Given the description of an element on the screen output the (x, y) to click on. 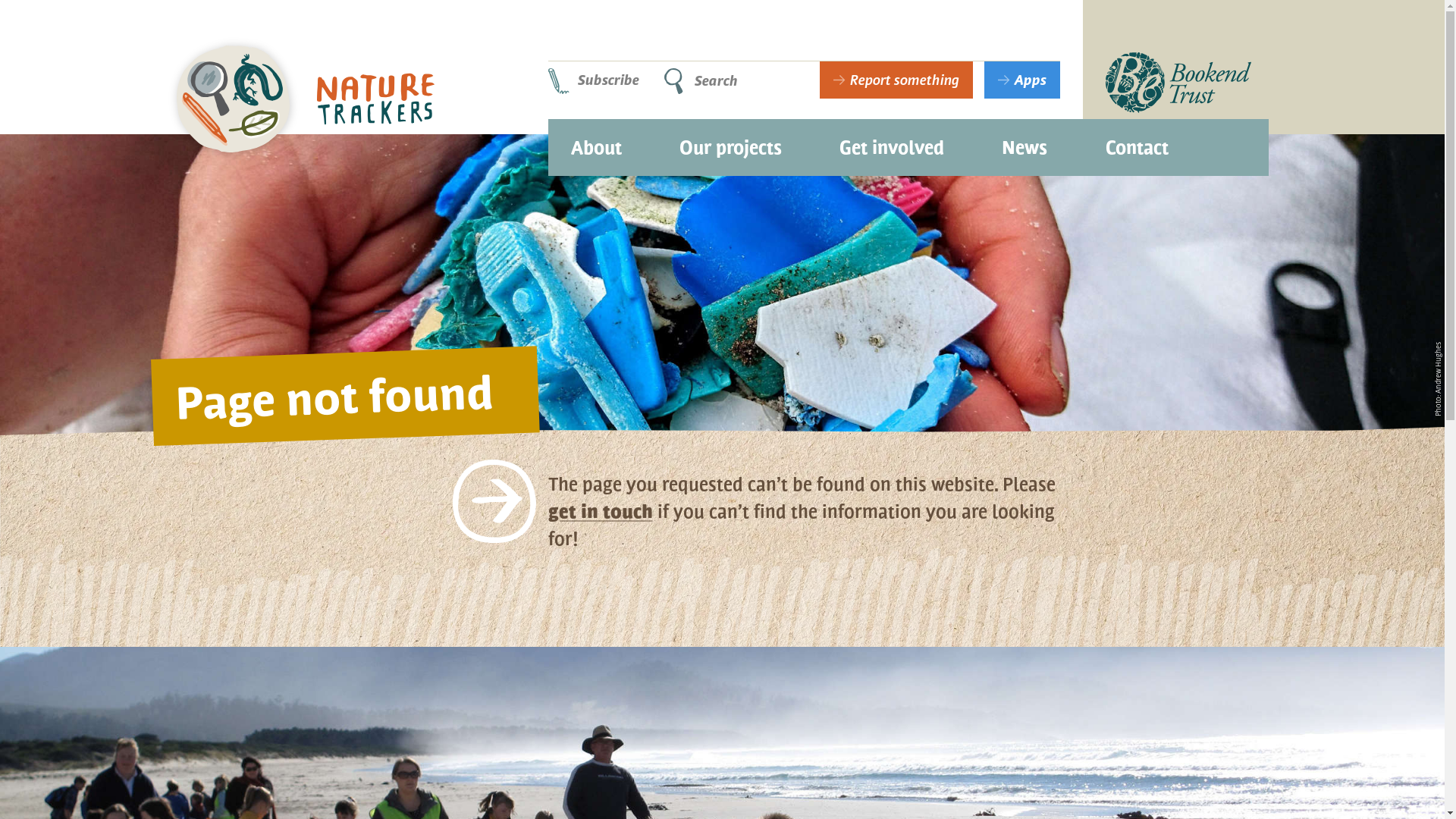
News Element type: text (1024, 141)
get in touch Element type: text (599, 510)
Get involved Element type: text (891, 141)
Contact Element type: text (1136, 141)
Our projects Element type: text (730, 141)
Report something Element type: text (895, 79)
About Element type: text (595, 141)
Apps Element type: text (1022, 79)
Subscribe Element type: text (599, 79)
